Given the description of an element on the screen output the (x, y) to click on. 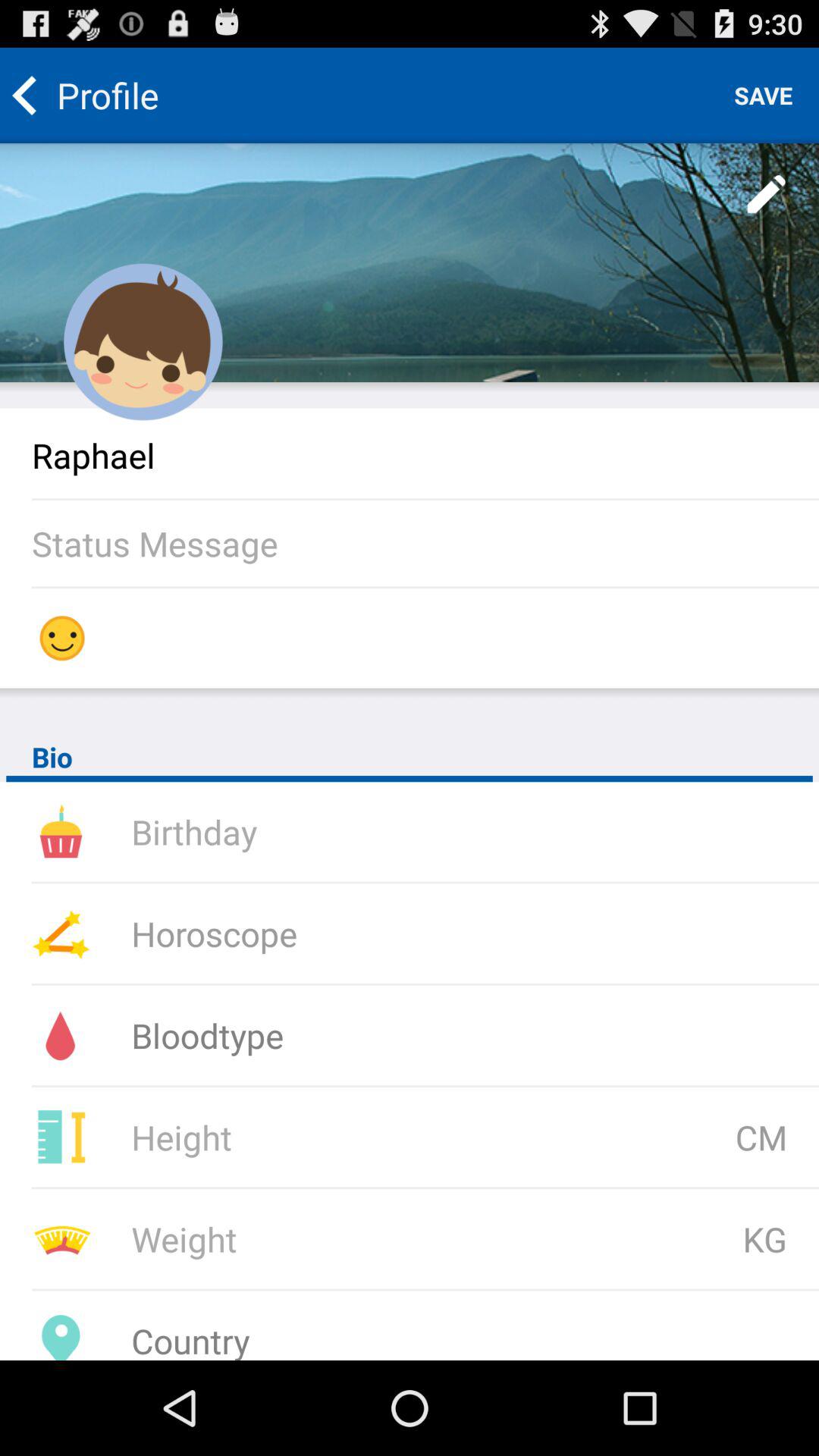
enter you current weight (330, 1238)
